Given the description of an element on the screen output the (x, y) to click on. 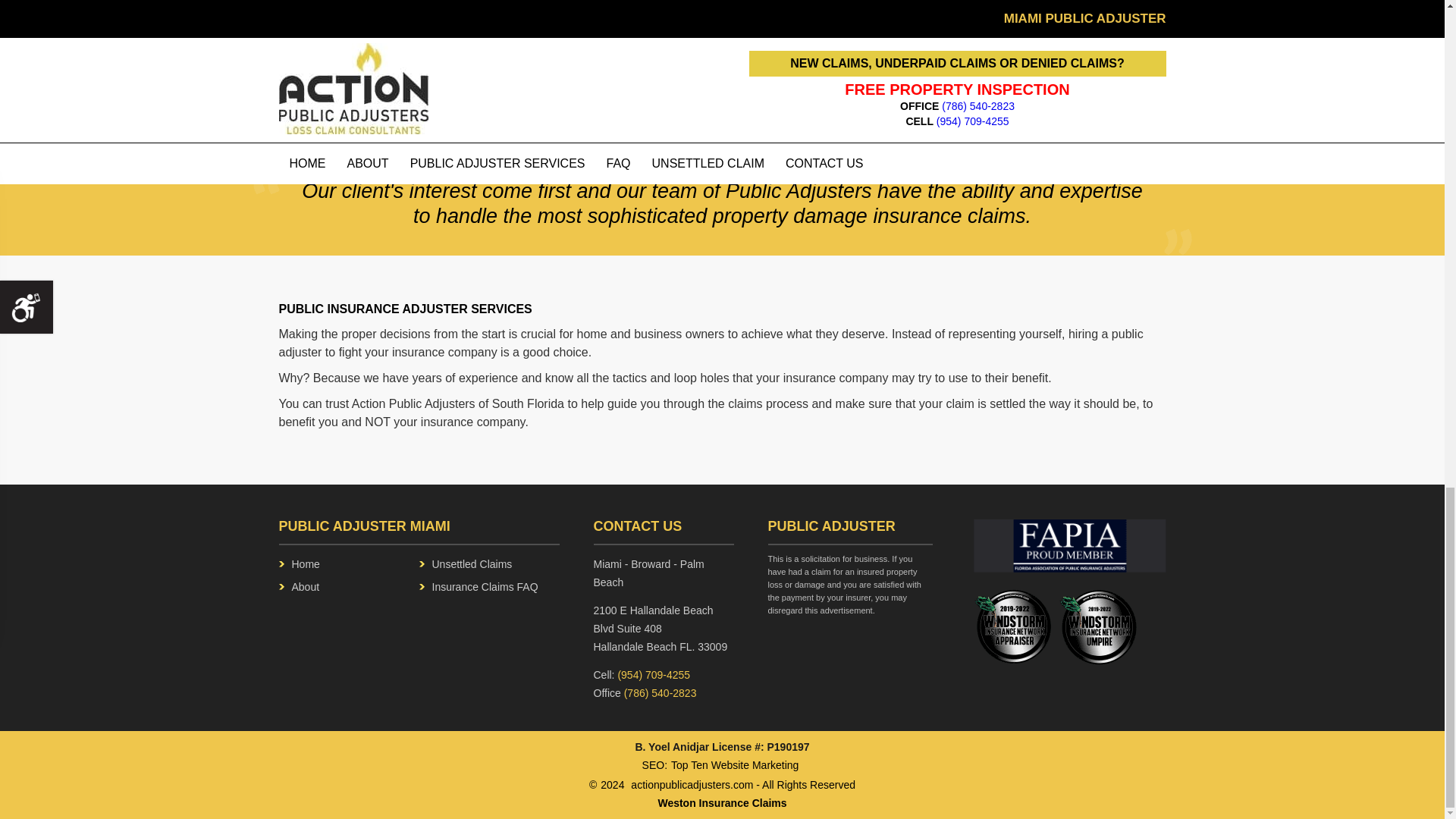
START YOUR CLAIM (597, 62)
Weston Insurance Claims (721, 803)
